Given the description of an element on the screen output the (x, y) to click on. 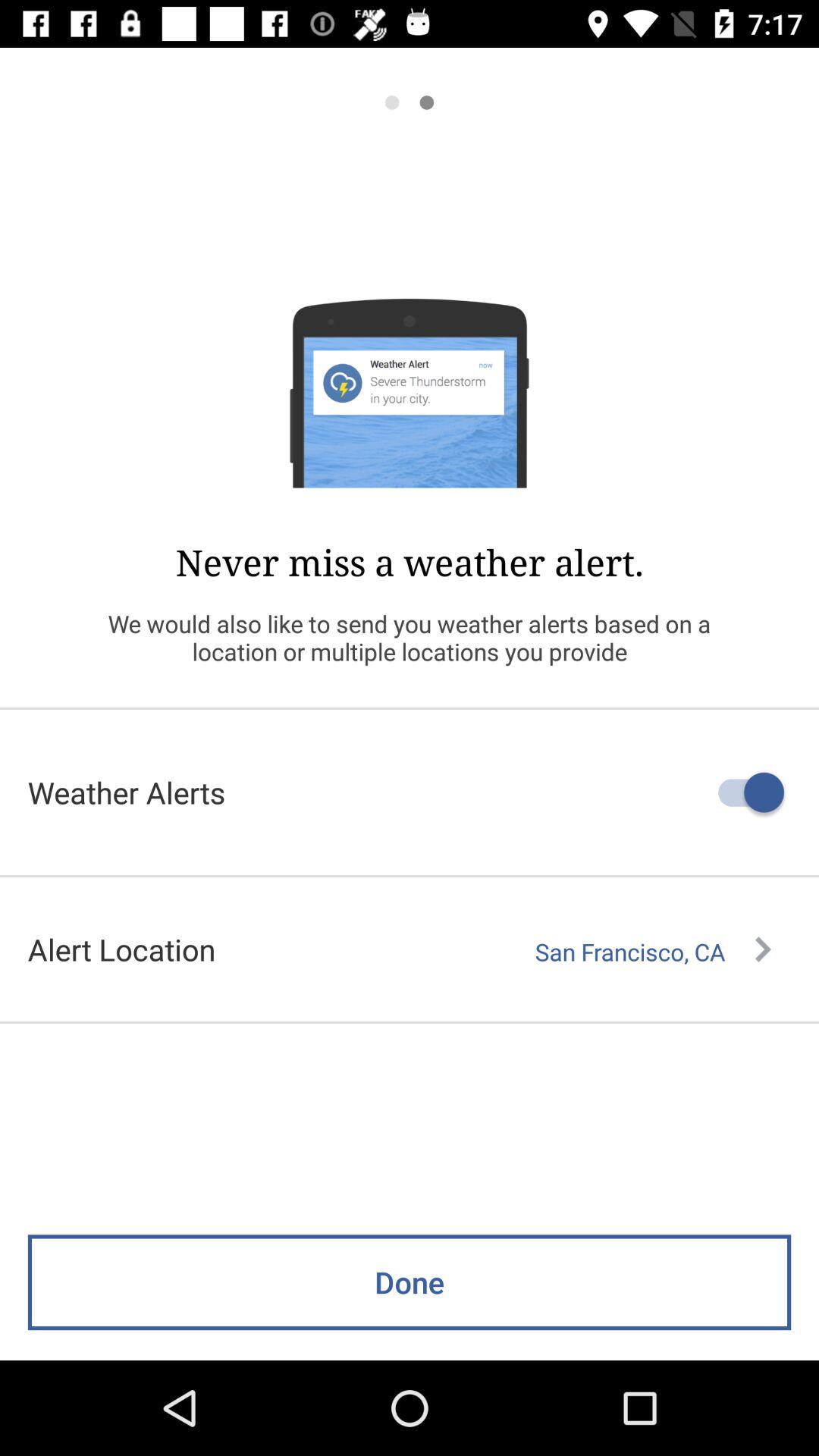
tap done (409, 1282)
